Given the description of an element on the screen output the (x, y) to click on. 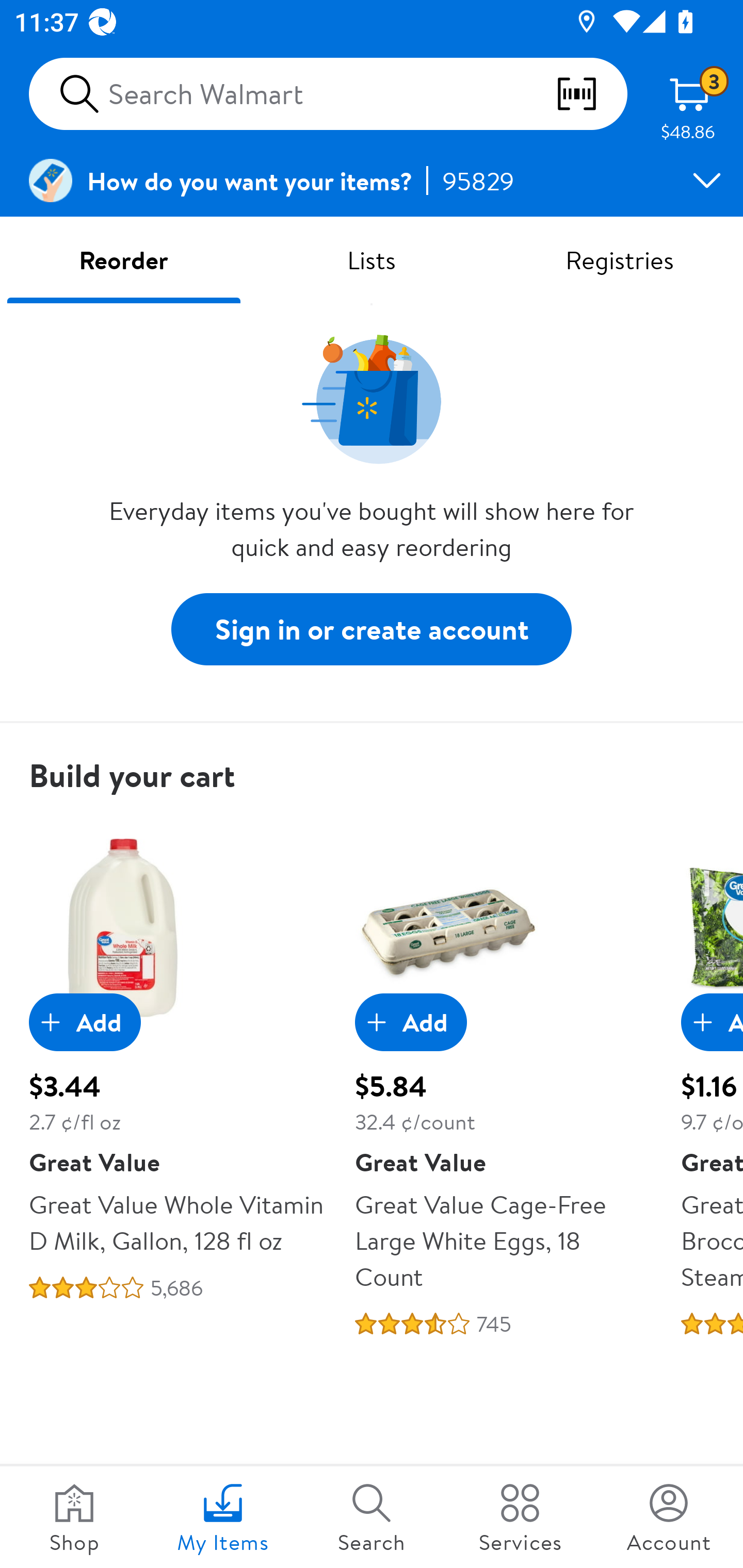
Search Walmart scan barcodes qr codes and more (327, 94)
scan barcodes qr codes and more (591, 94)
Lists (371, 259)
Registries (619, 259)
Sign in or create account (371, 628)
Shop (74, 1517)
Search (371, 1517)
Services (519, 1517)
Account (668, 1517)
